Given the description of an element on the screen output the (x, y) to click on. 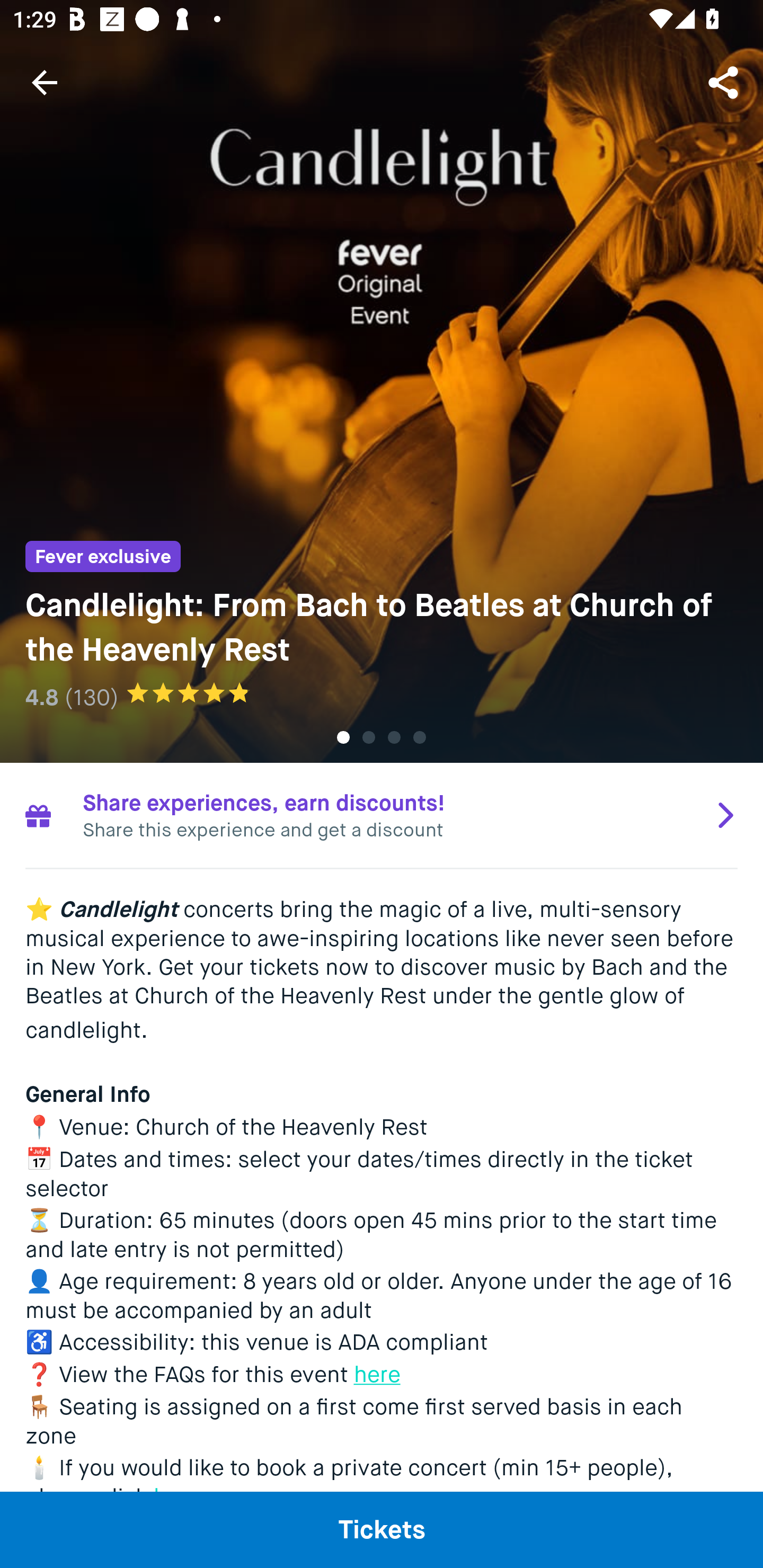
Navigate up (44, 82)
Share (724, 81)
(130) (91, 697)
Tickets (381, 1529)
